Given the description of an element on the screen output the (x, y) to click on. 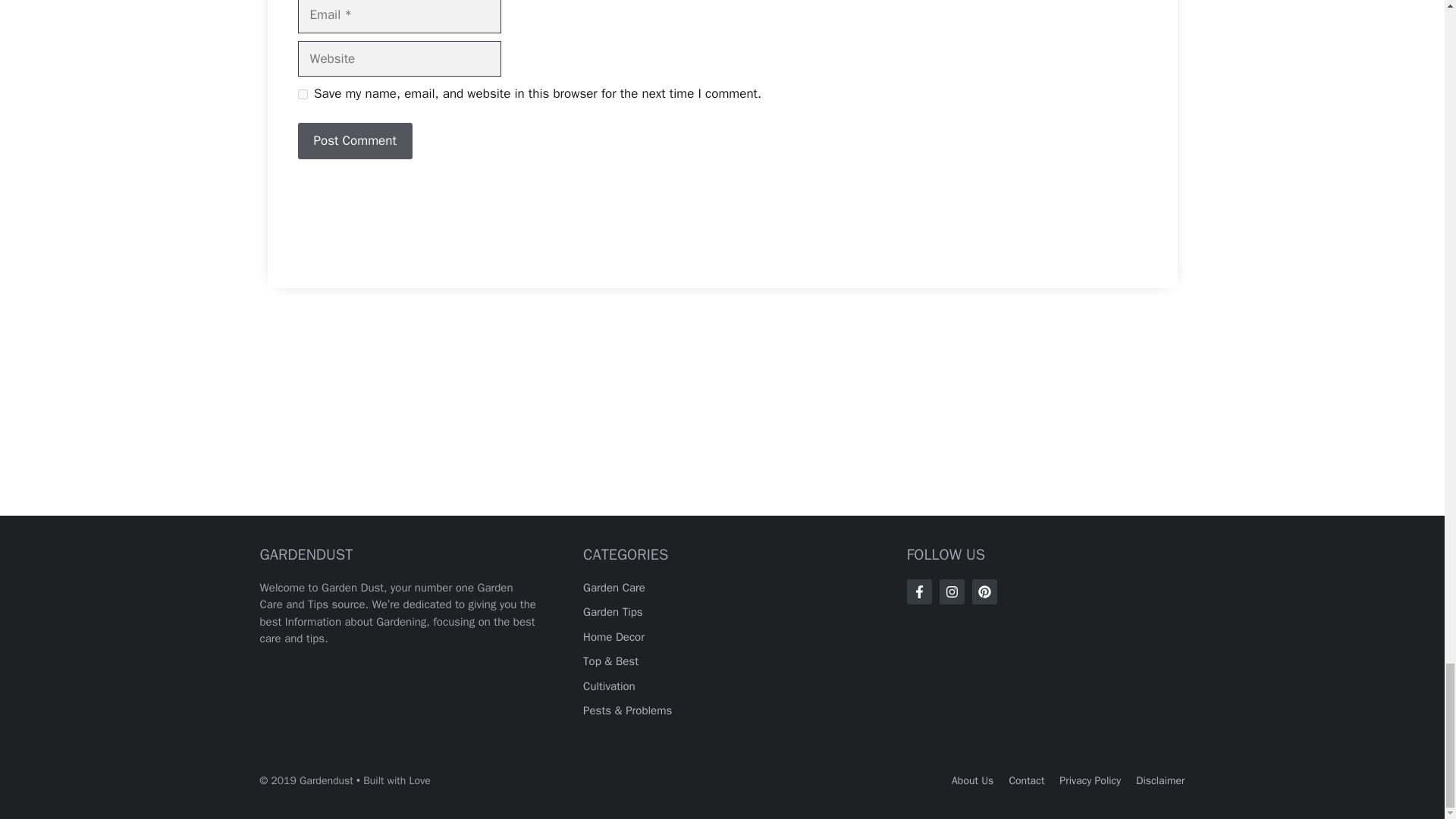
Post Comment (354, 140)
yes (302, 94)
Post Comment (354, 140)
Garden Care (614, 587)
Garden Tips (613, 612)
